Given the description of an element on the screen output the (x, y) to click on. 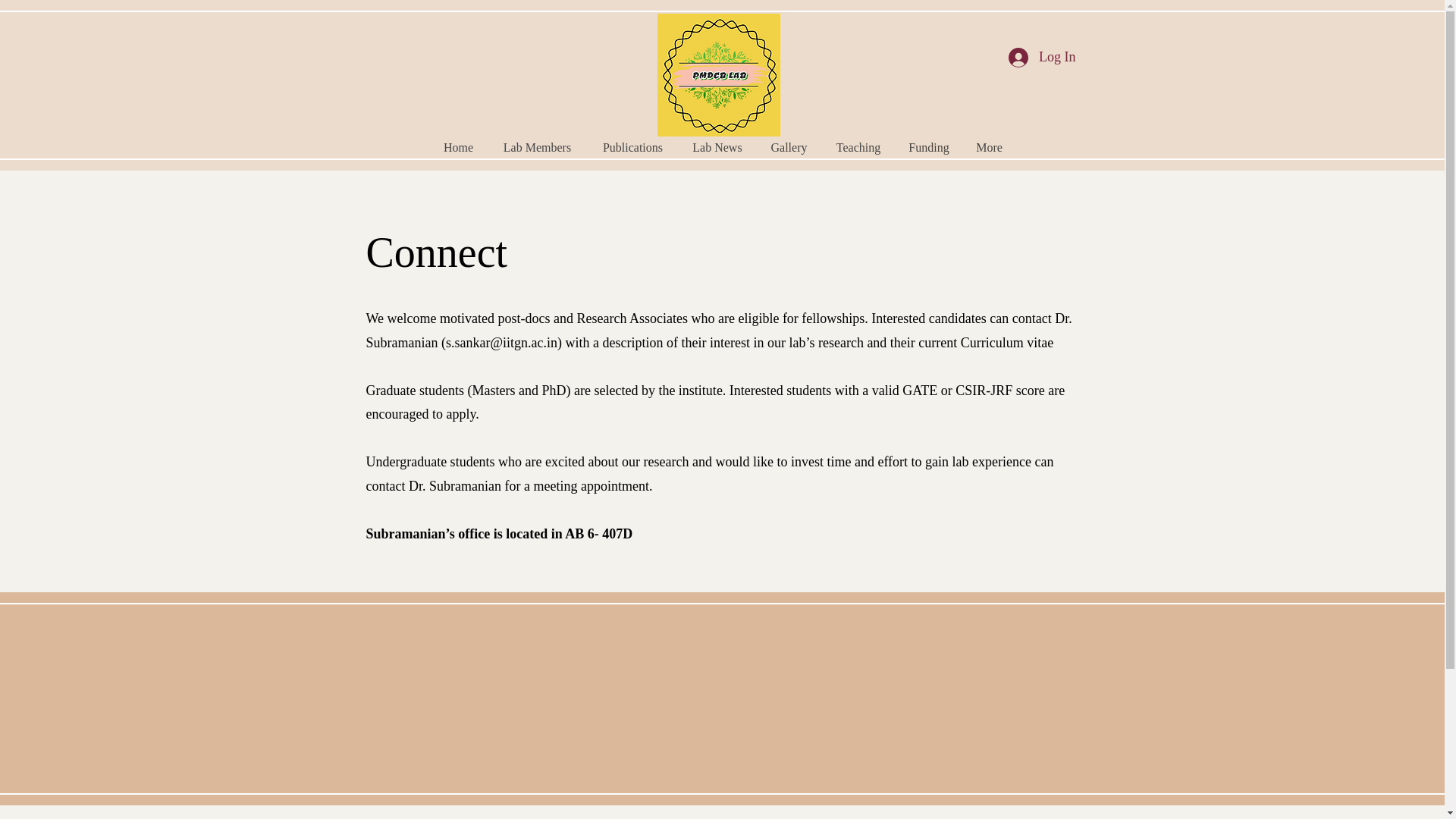
Home (457, 147)
Funding (928, 147)
Gallery (788, 147)
Log In (1041, 57)
Publications (632, 147)
Lab News (716, 147)
Lab Members (536, 147)
Teaching (858, 147)
